Given the description of an element on the screen output the (x, y) to click on. 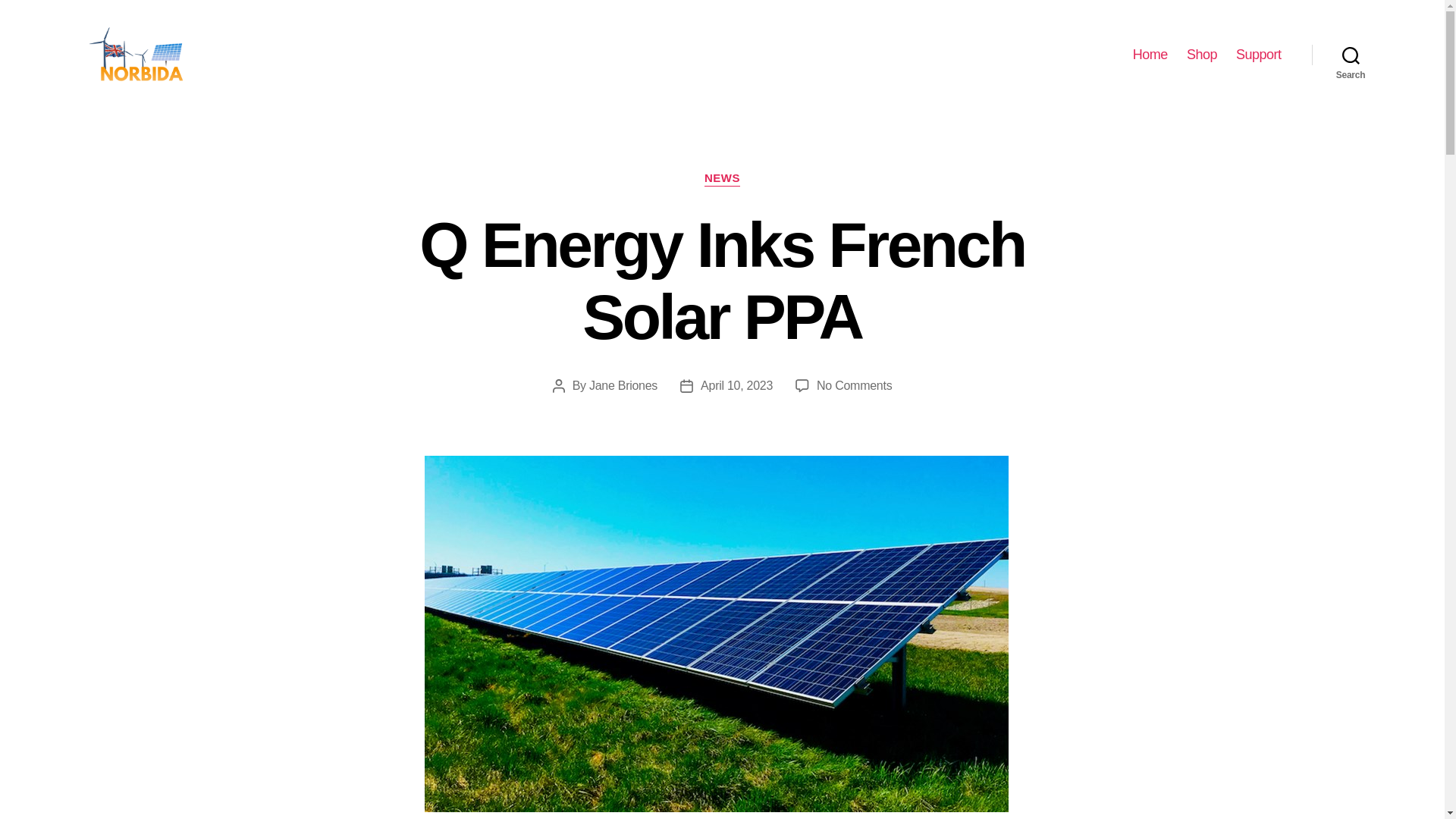
Support (1258, 54)
Shop (1201, 54)
April 10, 2023 (736, 385)
Home (1149, 54)
NEWS (721, 178)
Jane Briones (623, 385)
No Comments (853, 385)
Search (1350, 55)
